Given the description of an element on the screen output the (x, y) to click on. 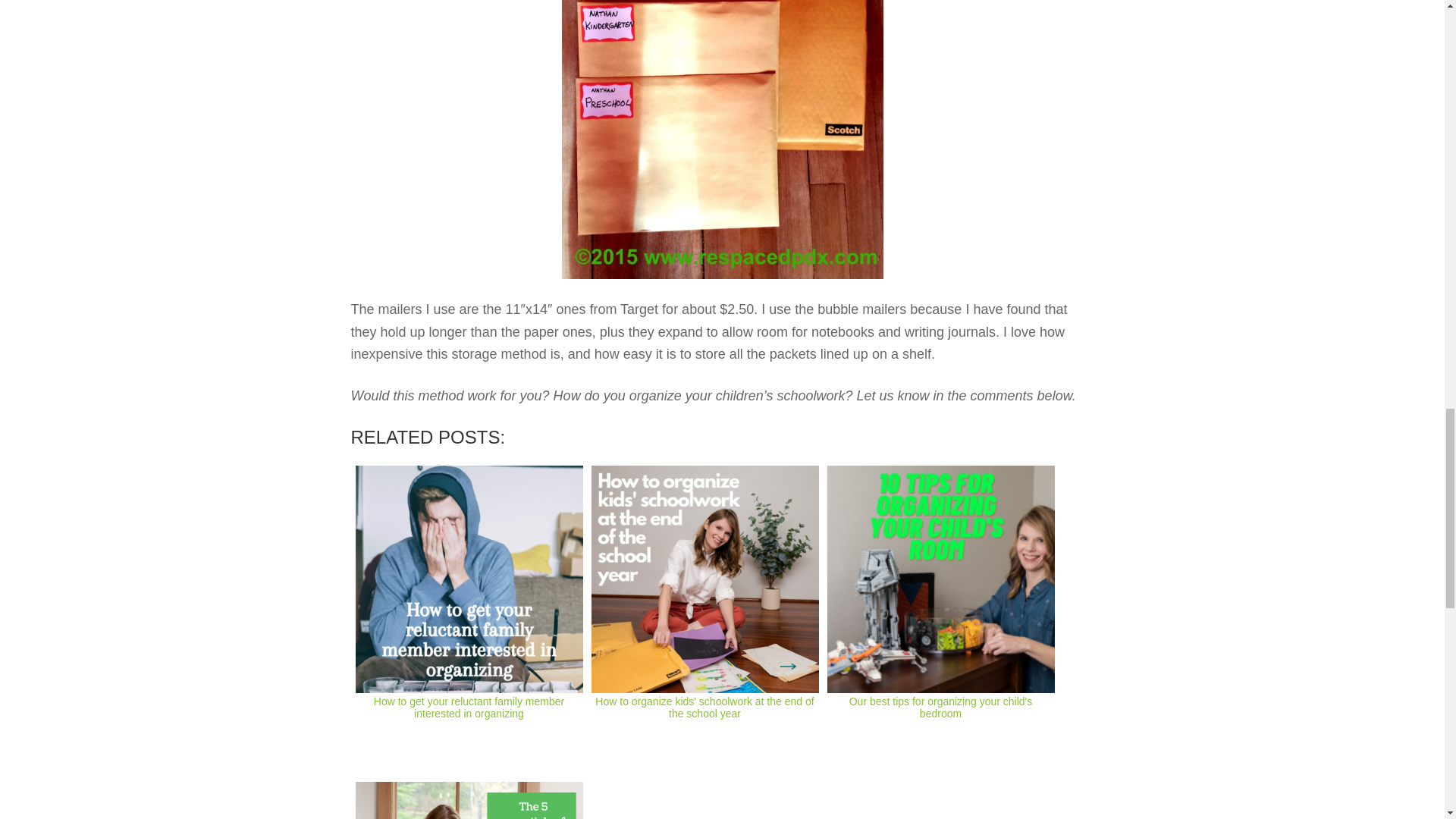
The 5 essentials of organizing kids' school papers (468, 798)
